Given the description of an element on the screen output the (x, y) to click on. 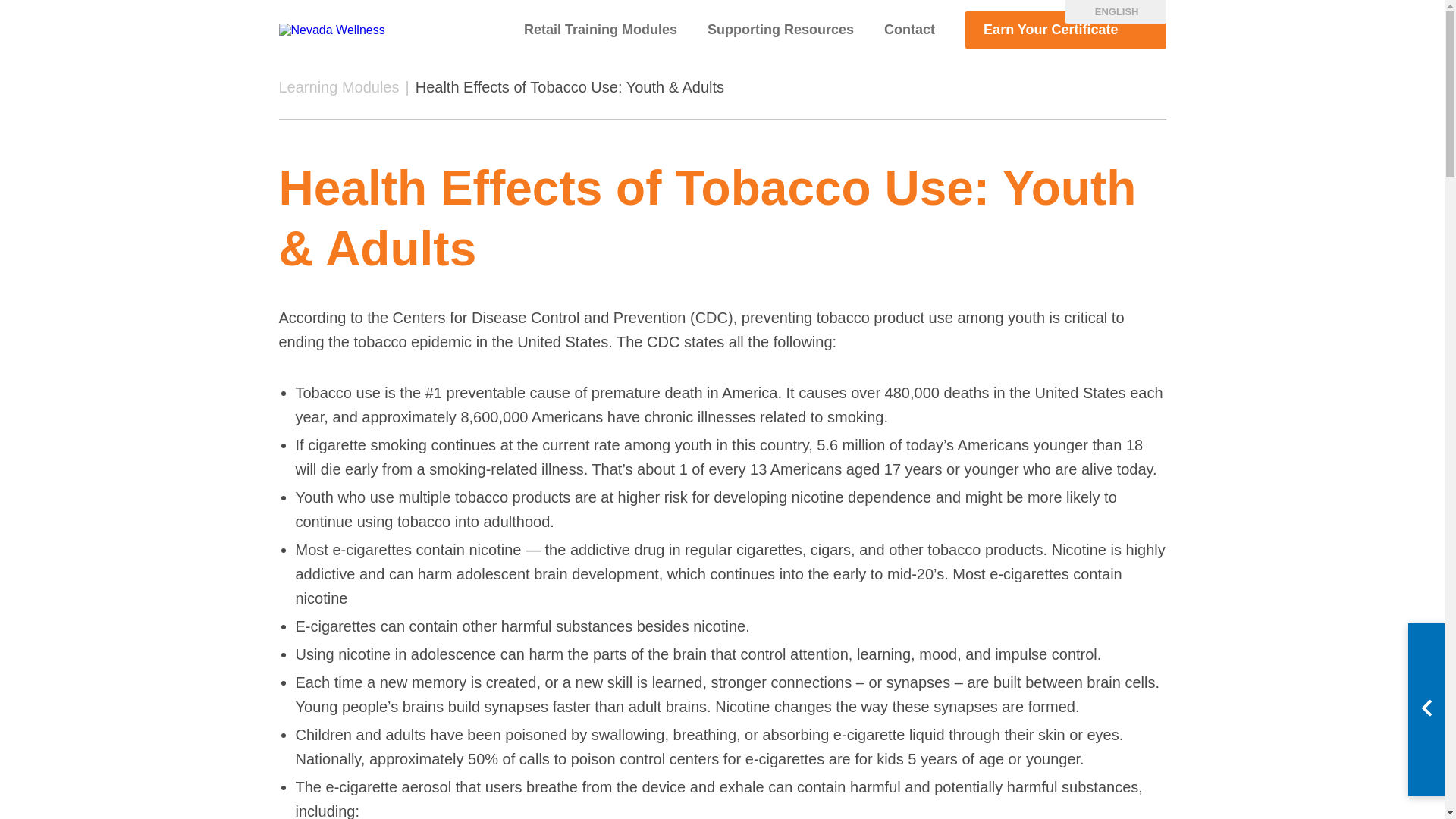
Learning Modules (338, 86)
Earn Your Certificate (1065, 29)
Retail Training Modules (600, 29)
Contact (908, 29)
Supporting Resources (780, 29)
